Given the description of an element on the screen output the (x, y) to click on. 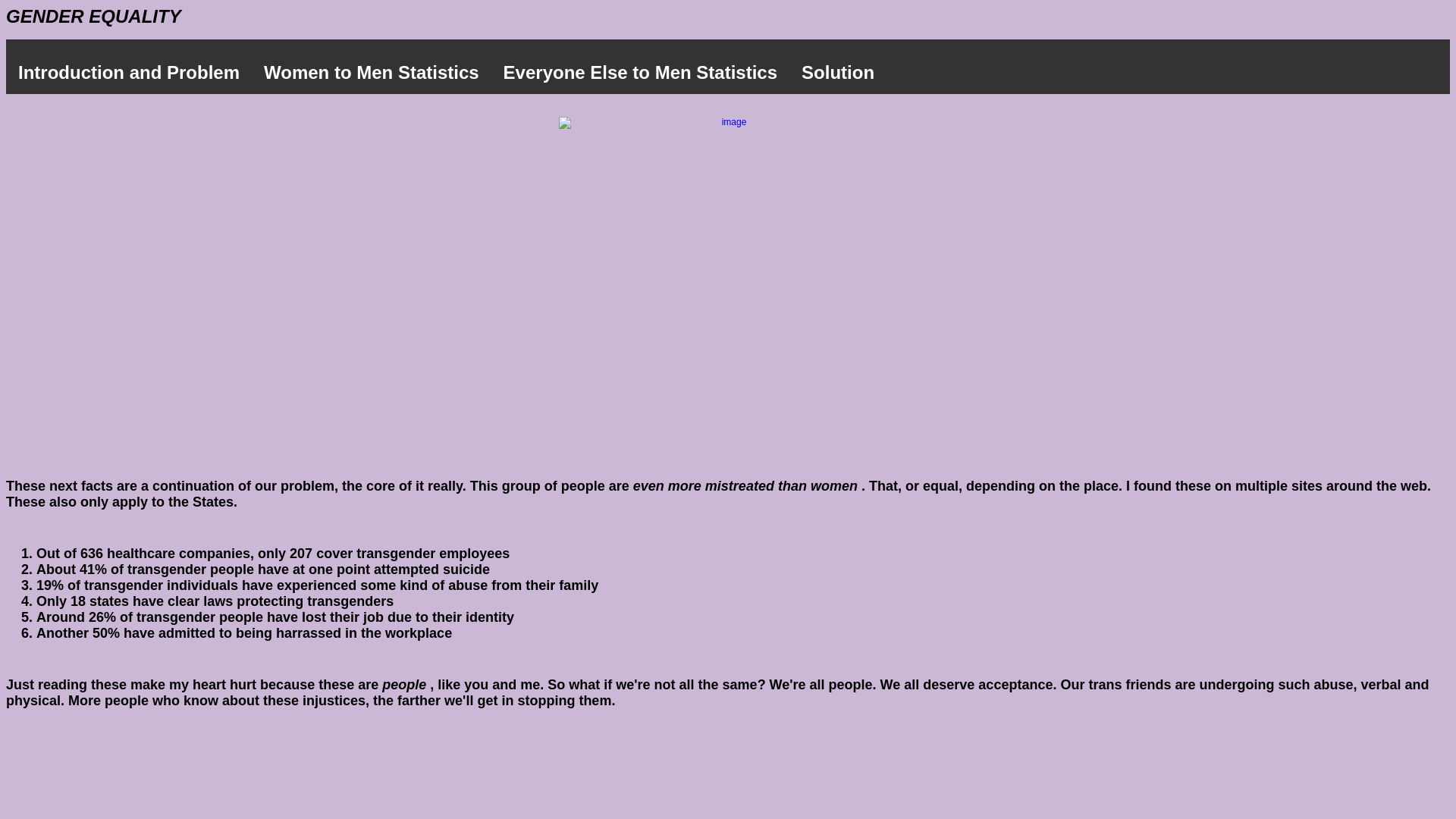
Solution (837, 72)
Women to Men Statistics (371, 72)
Everyone Else to Men Statistics (640, 72)
Introduction and Problem (128, 72)
